Given the description of an element on the screen output the (x, y) to click on. 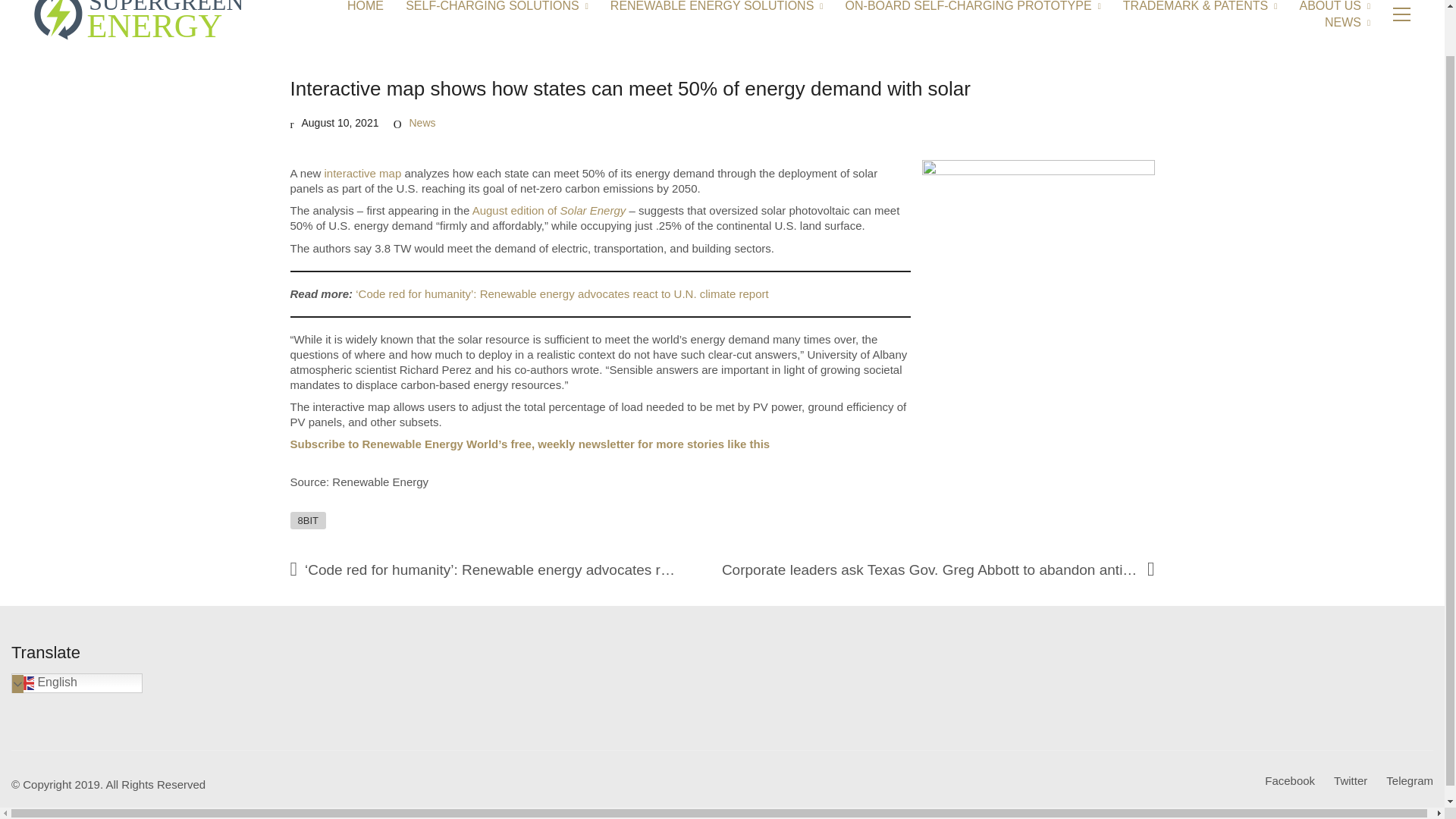
HOME (365, 6)
ON-BOARD SELF-CHARGING PROTOTYPE (972, 6)
ABOUT US (1334, 6)
Twitter (1350, 780)
SELF-CHARGING SOLUTIONS (497, 6)
Telegram (1409, 780)
RENEWABLE ENERGY SOLUTIONS (717, 6)
Facebook (1289, 780)
